Given the description of an element on the screen output the (x, y) to click on. 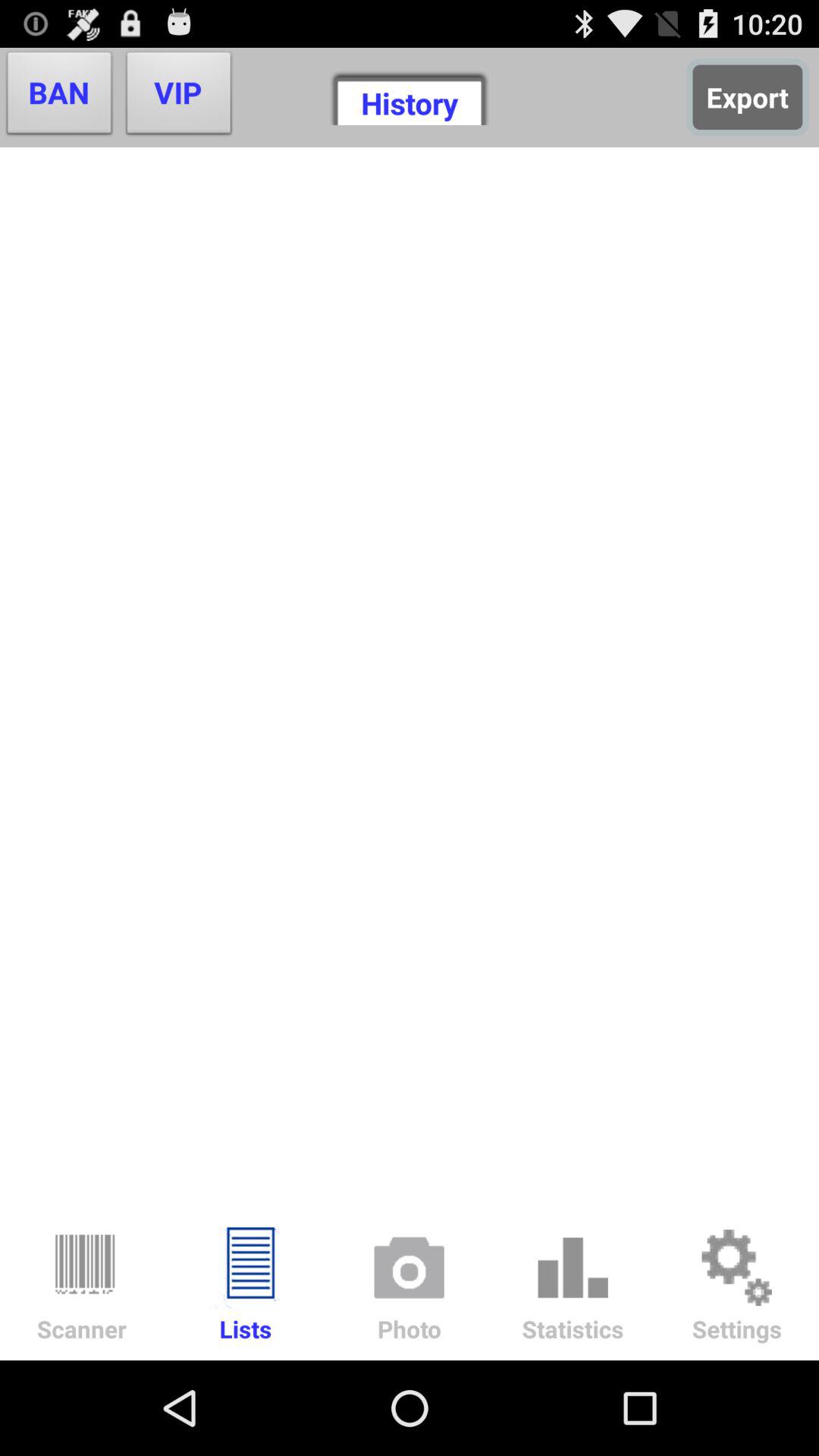
click the ban item (59, 97)
